Given the description of an element on the screen output the (x, y) to click on. 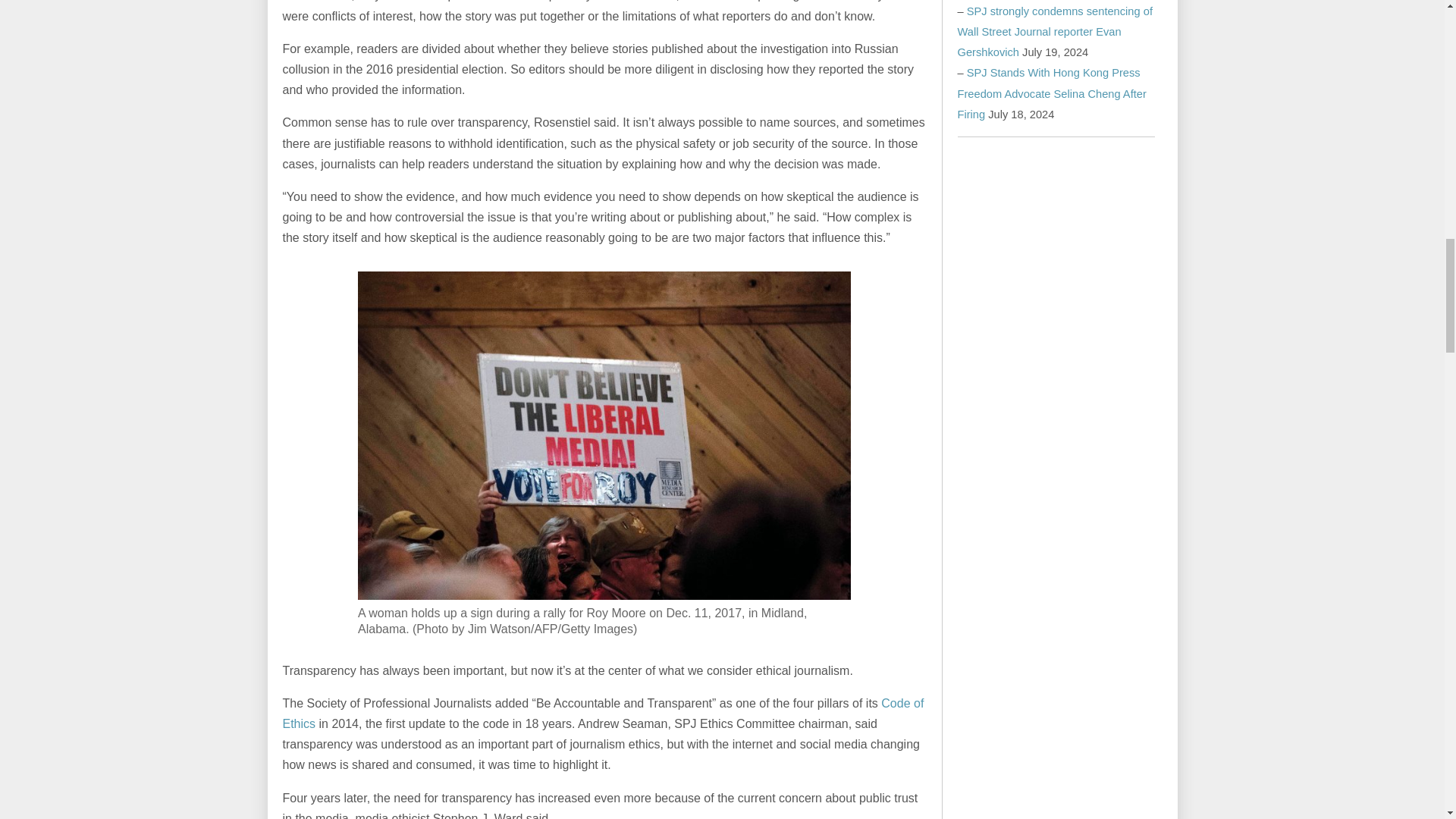
Code of Ethics (602, 713)
